Given the description of an element on the screen output the (x, y) to click on. 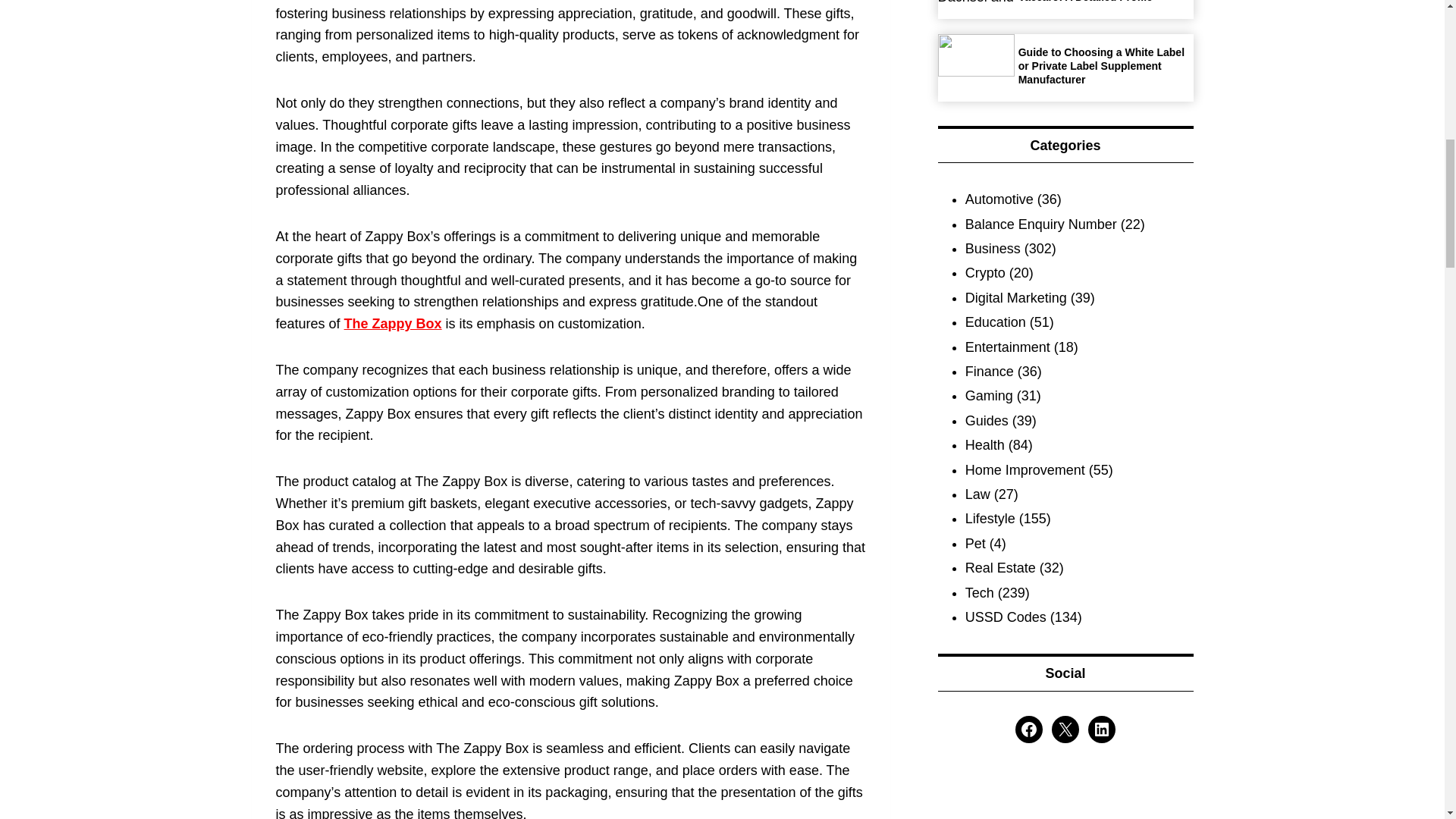
The Zappy Box (392, 323)
